Given the description of an element on the screen output the (x, y) to click on. 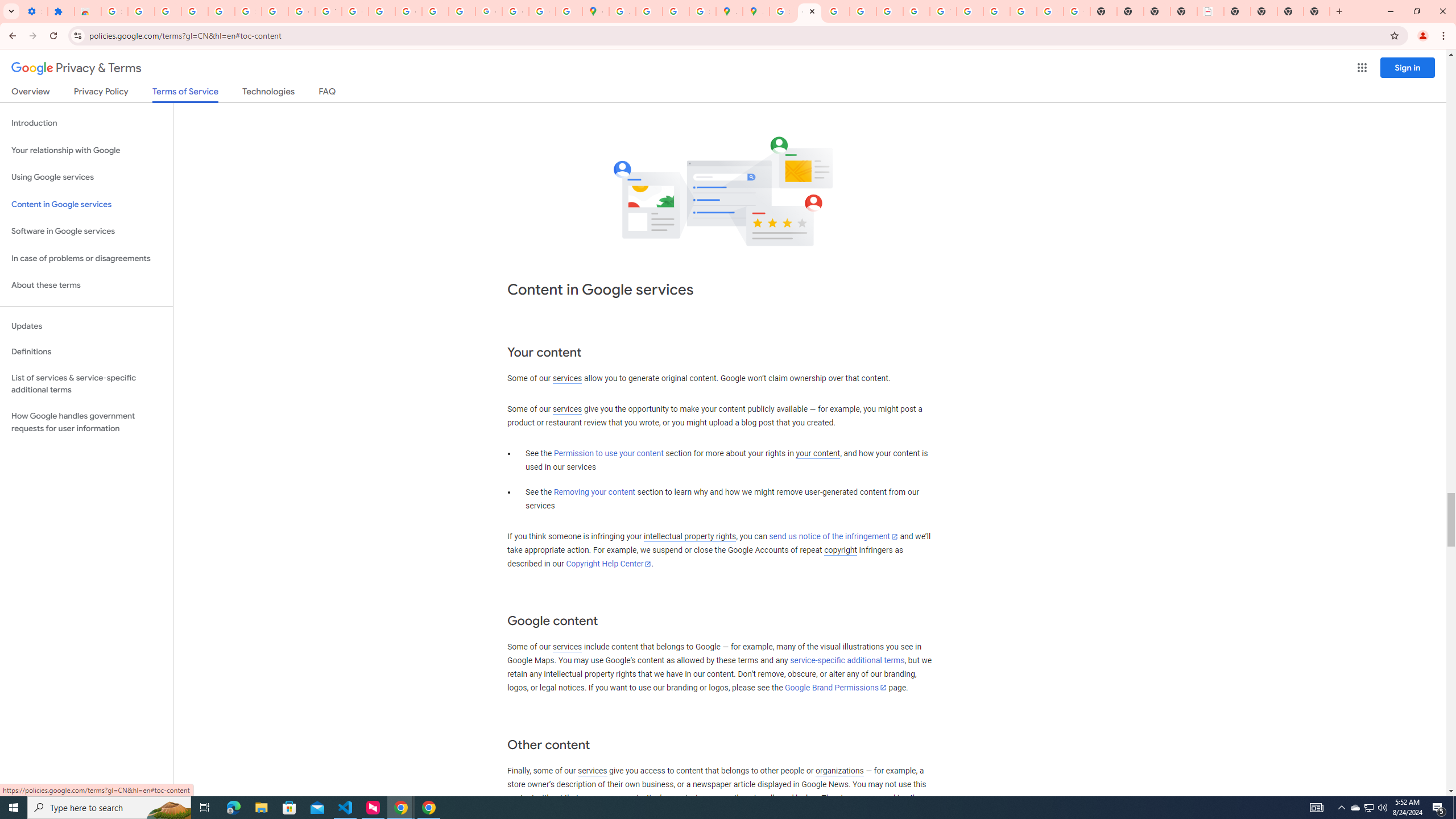
your content (817, 453)
Removing your content (593, 492)
LAAD Defence & Security 2025 | BAE Systems (1210, 11)
Sign in - Google Accounts (248, 11)
Copyright Help Center (609, 564)
send us notice of the infringement (833, 536)
Using Google services (86, 176)
Your relationship with Google (86, 150)
